Given the description of an element on the screen output the (x, y) to click on. 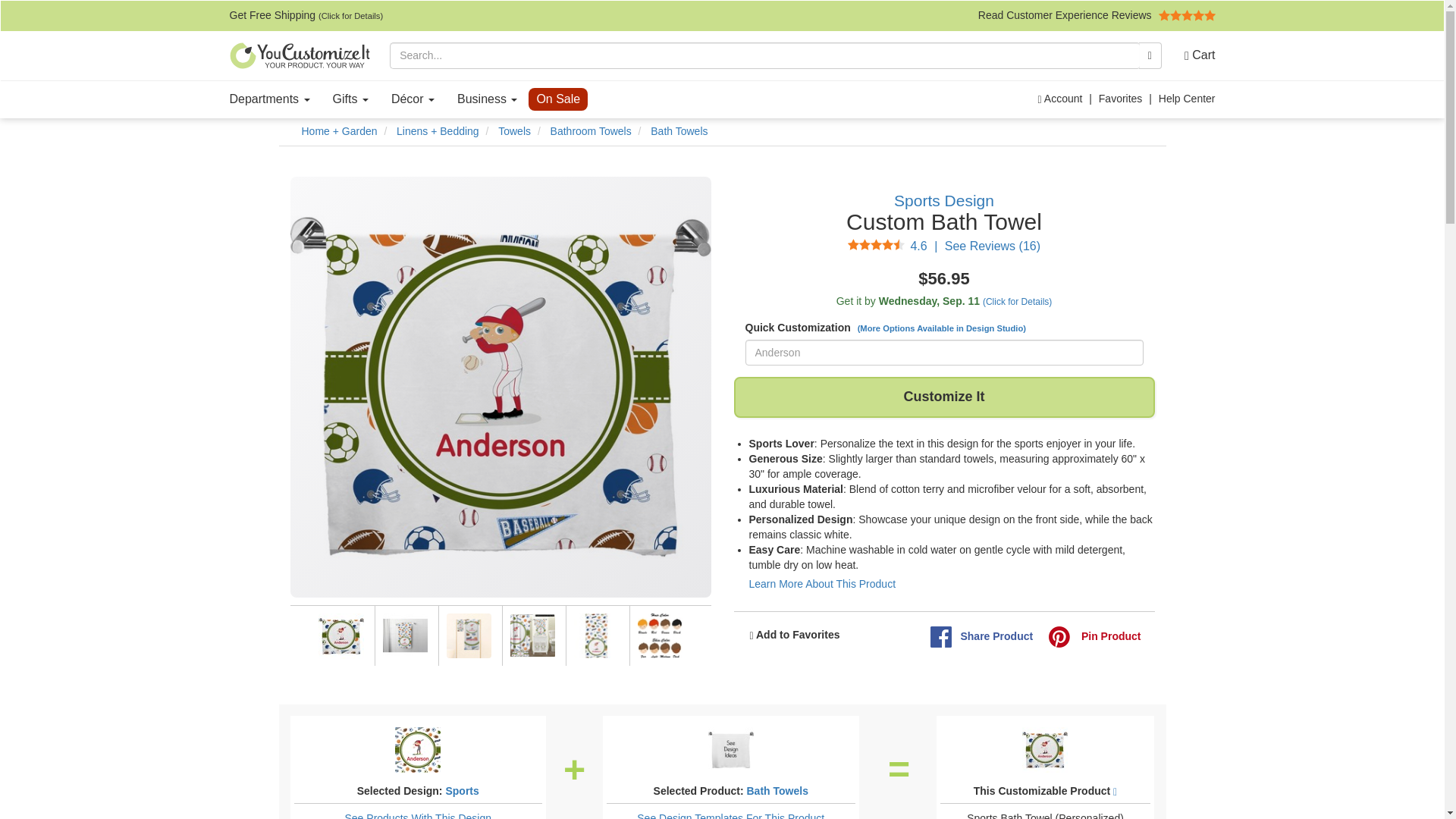
Gifts (350, 99)
Read Customer Experience Reviews (1096, 15)
Business (486, 99)
Calculate Shipping (943, 301)
Cart (1194, 55)
Learn More About This Product (822, 583)
Departments (269, 99)
